Given the description of an element on the screen output the (x, y) to click on. 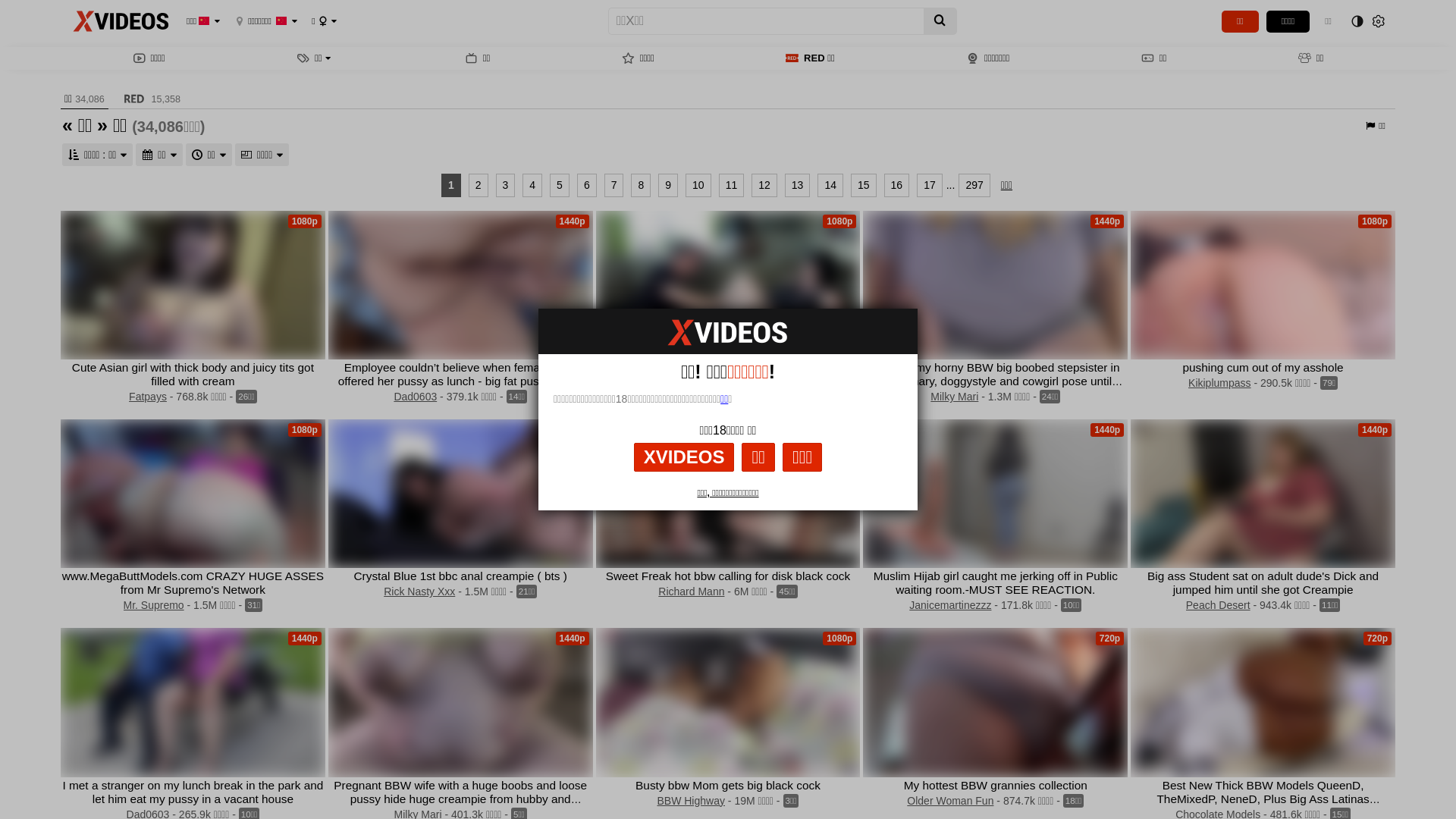
720p Element type: text (728, 493)
14 Element type: text (830, 185)
Milky Mari Element type: text (954, 396)
1 Element type: text (451, 185)
10 Element type: text (698, 185)
1440p Element type: text (460, 701)
720p Element type: text (1262, 701)
8 Element type: text (640, 185)
Janicemartinezzz Element type: text (950, 605)
11 Element type: text (731, 185)
Sweet Freak hot bbw calling for disk black cock Element type: text (727, 575)
13 Element type: text (797, 185)
297 Element type: text (973, 185)
1080p Element type: text (192, 284)
1080p Element type: text (728, 284)
5 Element type: text (559, 185)
pushing cum out of my asshole Element type: text (1263, 366)
1080p Element type: text (1262, 284)
720p Element type: text (994, 701)
9 Element type: text (667, 185)
Richard Mann Element type: text (691, 591)
BBW Highway Element type: text (690, 800)
6 Element type: text (586, 185)
Crystal Blue 1st bbc anal creampie ( bts ) Element type: text (459, 575)
16 Element type: text (897, 185)
My hottest BBW grannies collection Element type: text (995, 784)
1080p Element type: text (192, 493)
XVIDEOS Element type: text (683, 456)
1080p Element type: text (460, 493)
1440p Element type: text (192, 701)
4 Element type: text (532, 185)
7 Element type: text (614, 185)
12 Element type: text (764, 185)
Kikiplumpass Element type: text (1219, 382)
15,358 Element type: text (150, 98)
Fatpays Element type: text (147, 396)
1080p Element type: text (728, 701)
Rick Nasty Xxx Element type: text (419, 591)
15 Element type: text (863, 185)
Older Woman Fun Element type: text (949, 800)
... Element type: text (950, 185)
1440p Element type: text (460, 284)
1440p Element type: text (1262, 493)
Peach Desert Element type: text (1218, 605)
Mr. Supremo Element type: text (152, 605)
2 Element type: text (478, 185)
1440p Element type: text (994, 493)
3 Element type: text (505, 185)
Busty bbw Mom gets big black cock Element type: text (727, 784)
Andy Star German Element type: text (685, 396)
Dad0603 Element type: text (414, 396)
17 Element type: text (929, 185)
1440p Element type: text (994, 284)
